Given the description of an element on the screen output the (x, y) to click on. 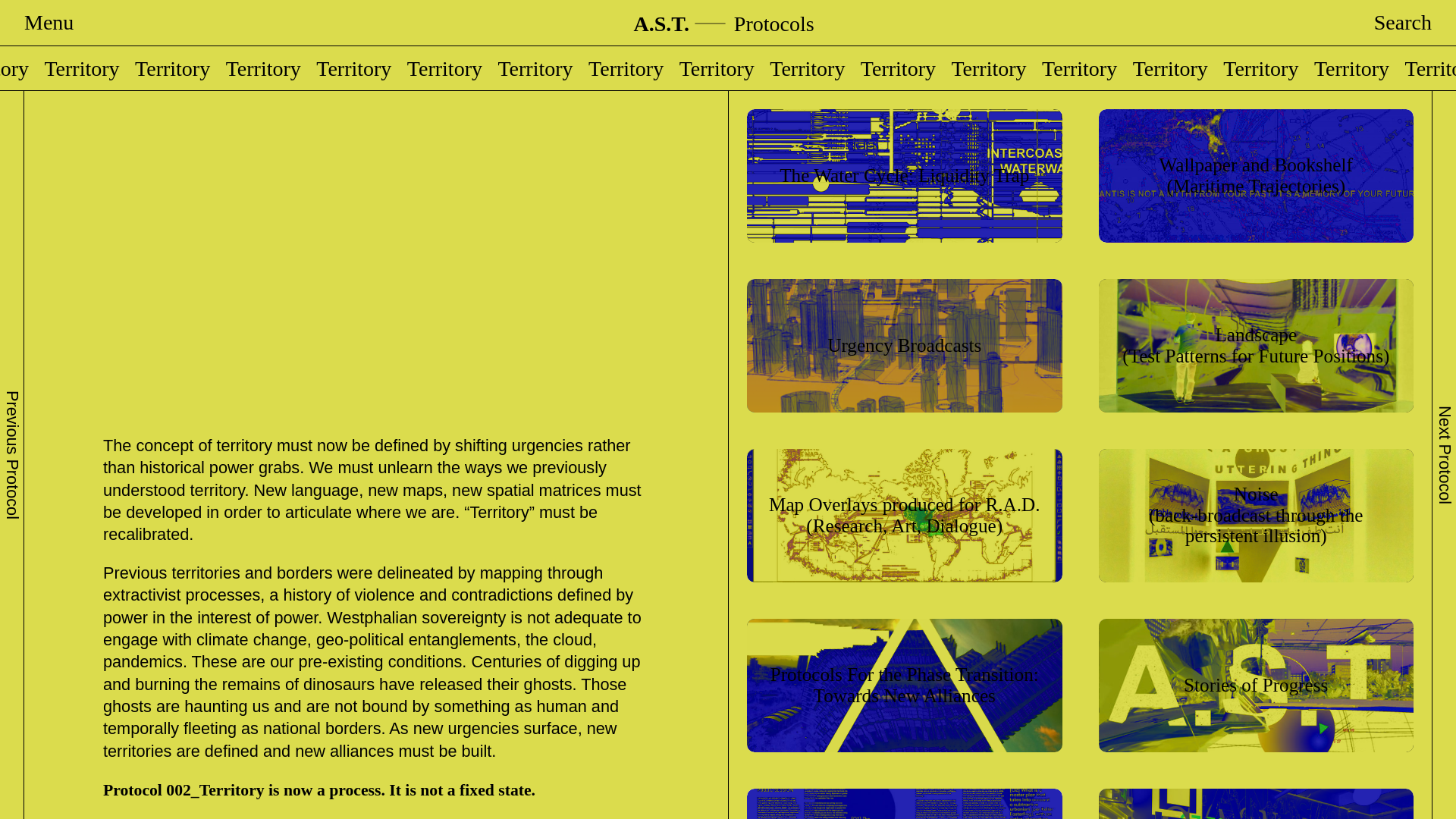
Urgency Broadcasts (904, 345)
Protocols (773, 24)
A.S.T. (660, 24)
The Water Cycle: Liquidity Trap (903, 175)
Stories of Progress (1255, 684)
Stories of Progress (1255, 685)
Urgency Broadcasts (904, 344)
The Water Cycle: Liquidity Trap (904, 175)
Protocols For the Phase Transition: Towards New Alliances (904, 685)
